Given the description of an element on the screen output the (x, y) to click on. 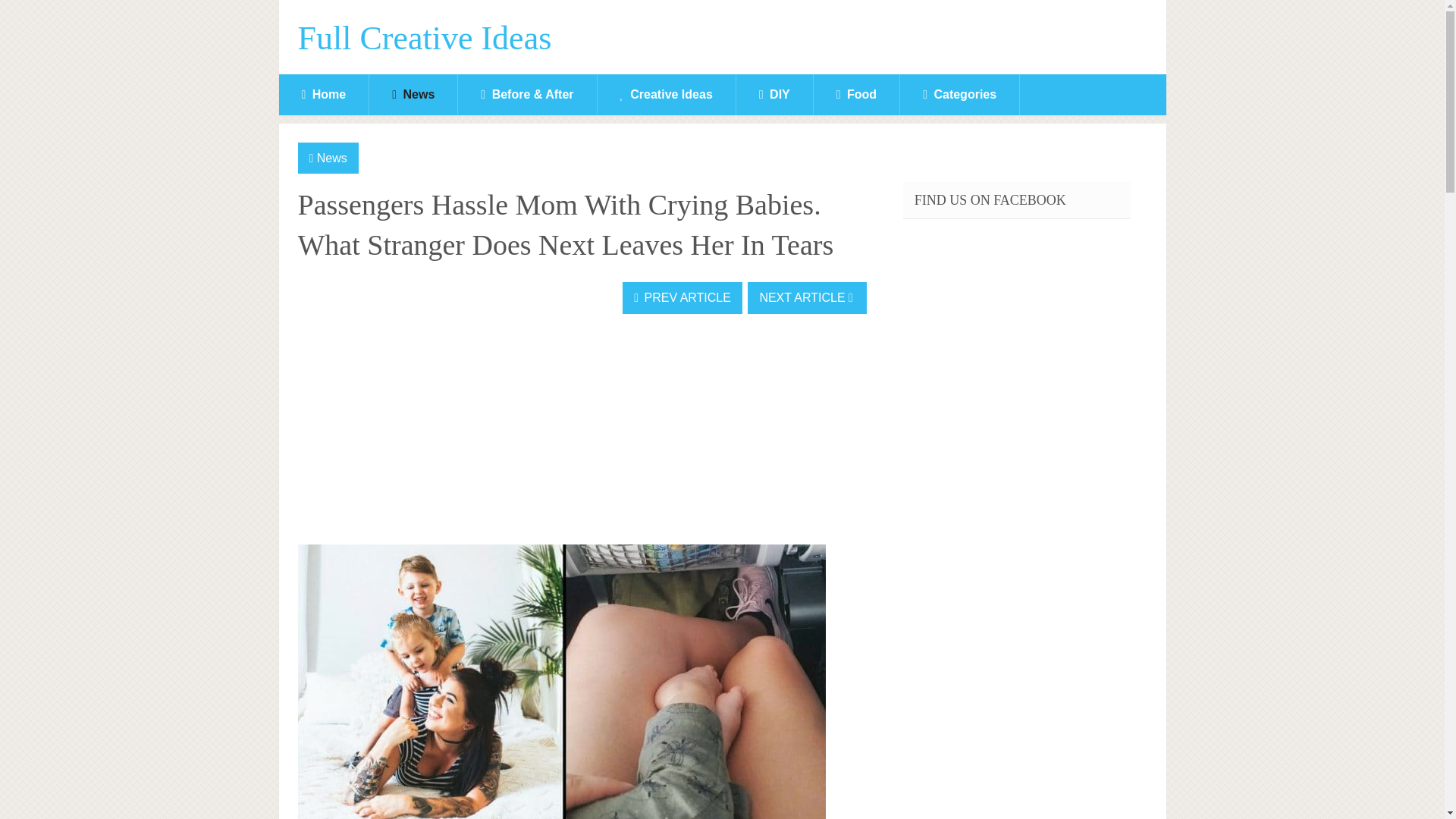
Creative Ideas (665, 94)
Food (856, 94)
Home (324, 94)
DIY (774, 94)
NEXT ARTICLE (807, 297)
Categories (959, 94)
Full Creative Ideas (424, 38)
Advertisement (410, 431)
News (332, 157)
PREV ARTICLE (682, 297)
View all posts in News (332, 157)
News (413, 94)
